Given the description of an element on the screen output the (x, y) to click on. 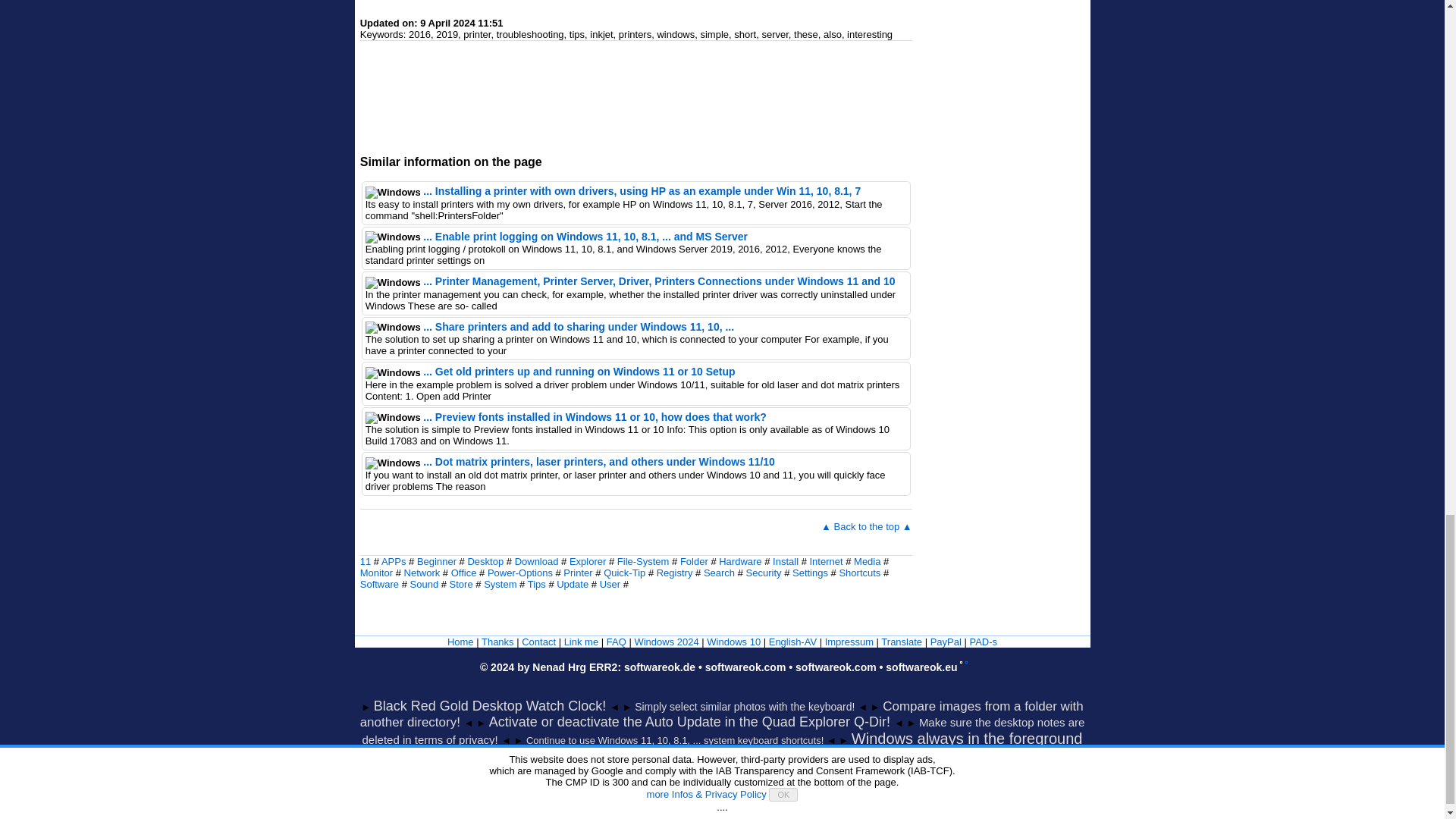
File-System (643, 561)
Desktop  Windows 10 (485, 561)
Office (464, 572)
Power-Options (520, 572)
Get old printers up and running on Windows 11 or 10 Setup (579, 371)
Desktop (485, 561)
Install  Windows 10 (785, 561)
11  Windows 10 (365, 561)
